Given the description of an element on the screen output the (x, y) to click on. 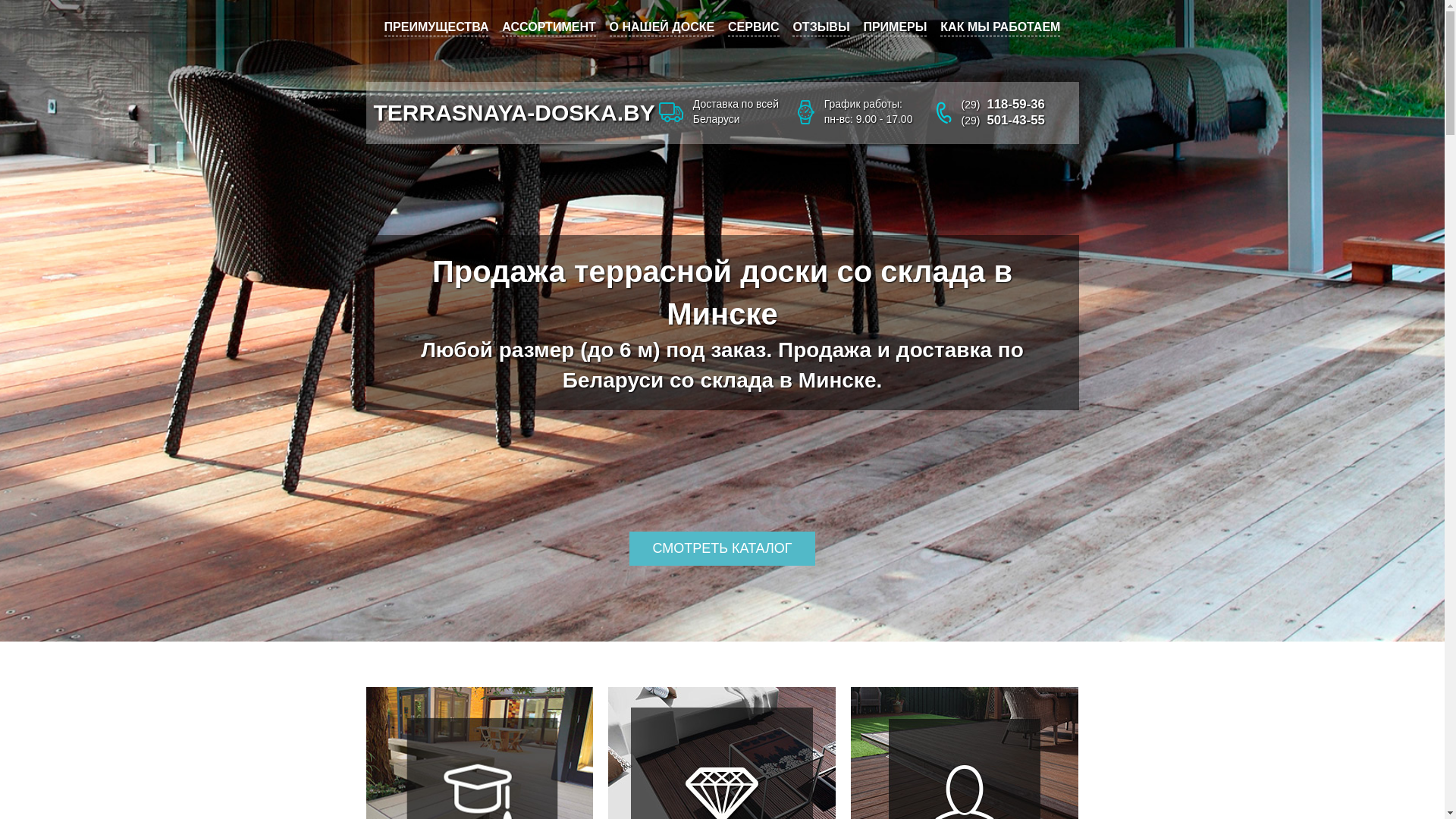
TERRASNAYA-DOSKA.BY Element type: text (513, 112)
